Given the description of an element on the screen output the (x, y) to click on. 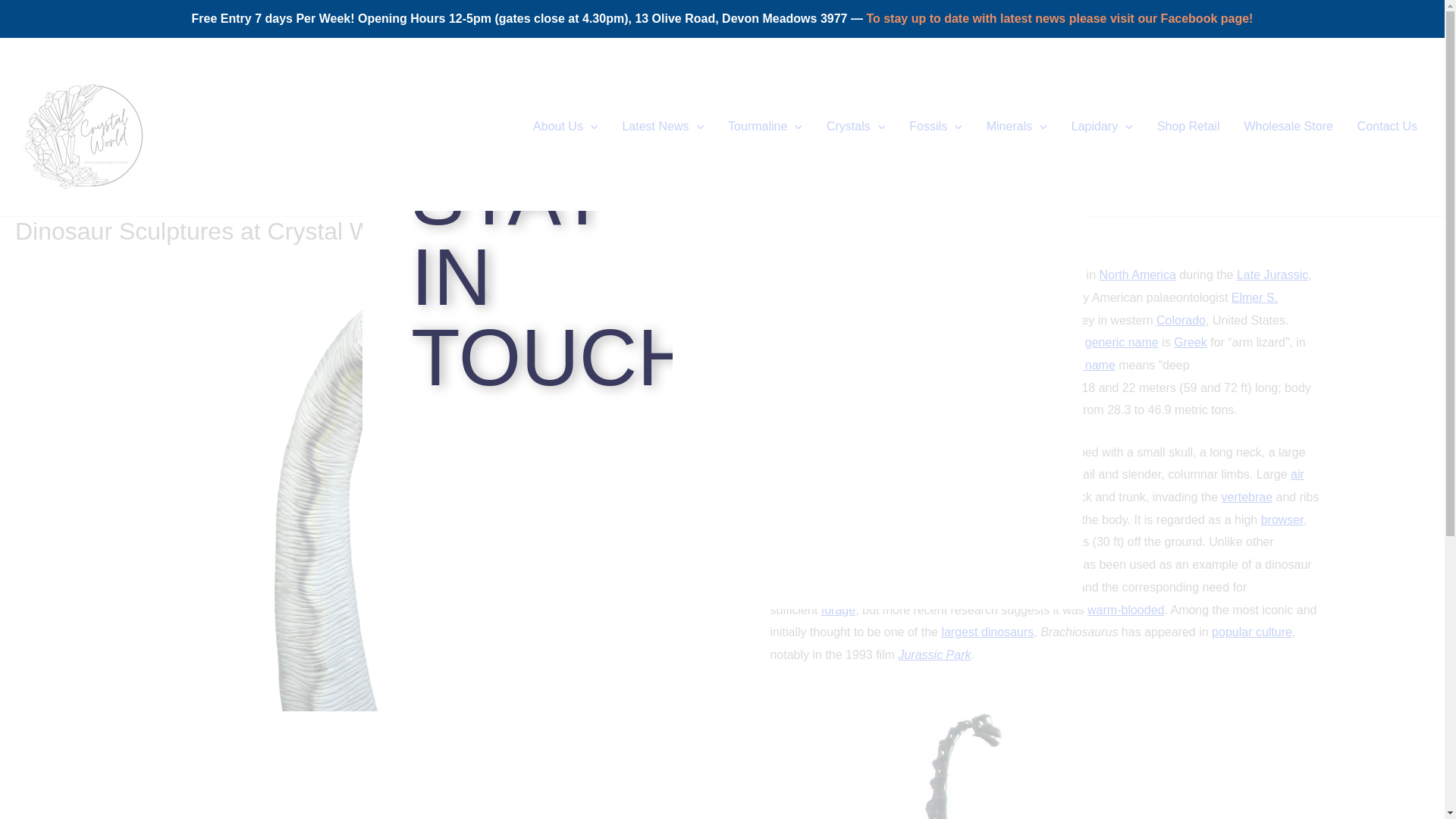
Tourmaline (764, 126)
Latest News (663, 126)
About Us (565, 126)
Crystals (854, 126)
Fossils (935, 126)
